Given the description of an element on the screen output the (x, y) to click on. 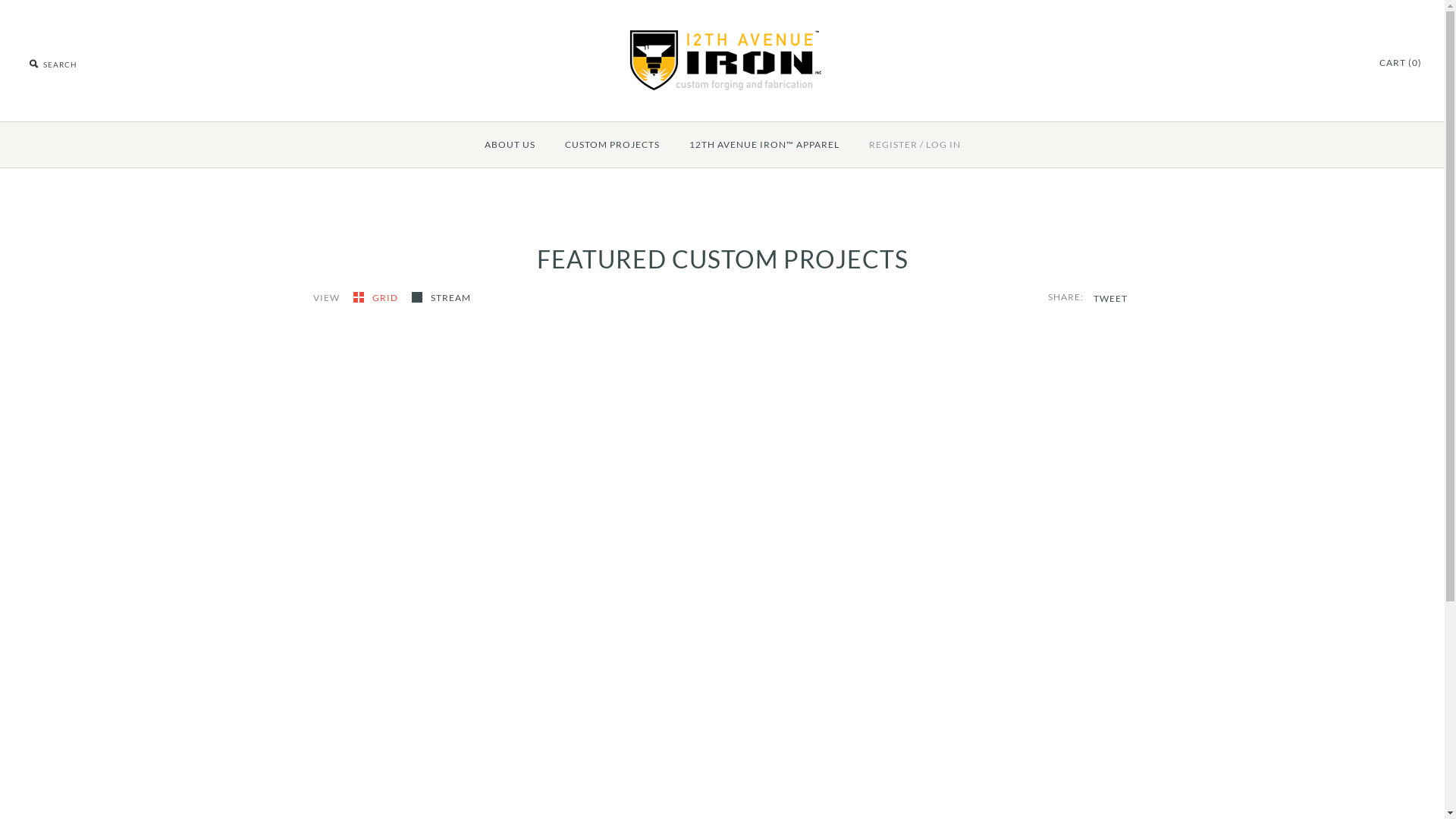
LOG IN Element type: text (942, 144)
CUSTOM PROJECTS Element type: text (611, 144)
12th Avenue Iron Inc. Element type: hover (721, 39)
REGISTER Element type: text (893, 144)
STREAM Element type: text (440, 297)
CART (0) Element type: text (1400, 62)
GRID Element type: text (376, 297)
TWEET Element type: text (1110, 298)
ABOUT US Element type: text (509, 144)
